Given the description of an element on the screen output the (x, y) to click on. 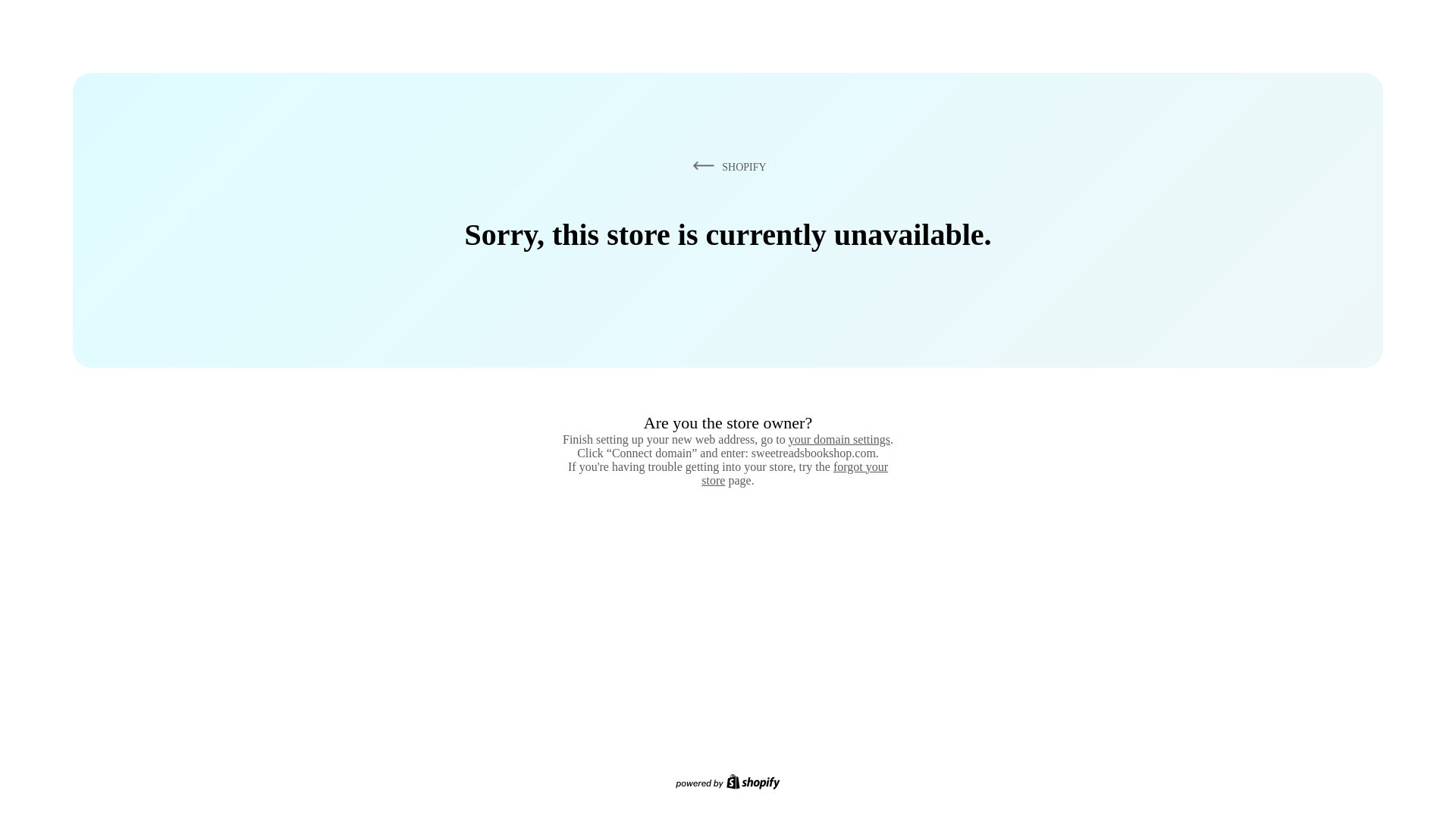
your domain settings (839, 439)
SHOPIFY (726, 166)
forgot your store (794, 473)
